Given the description of an element on the screen output the (x, y) to click on. 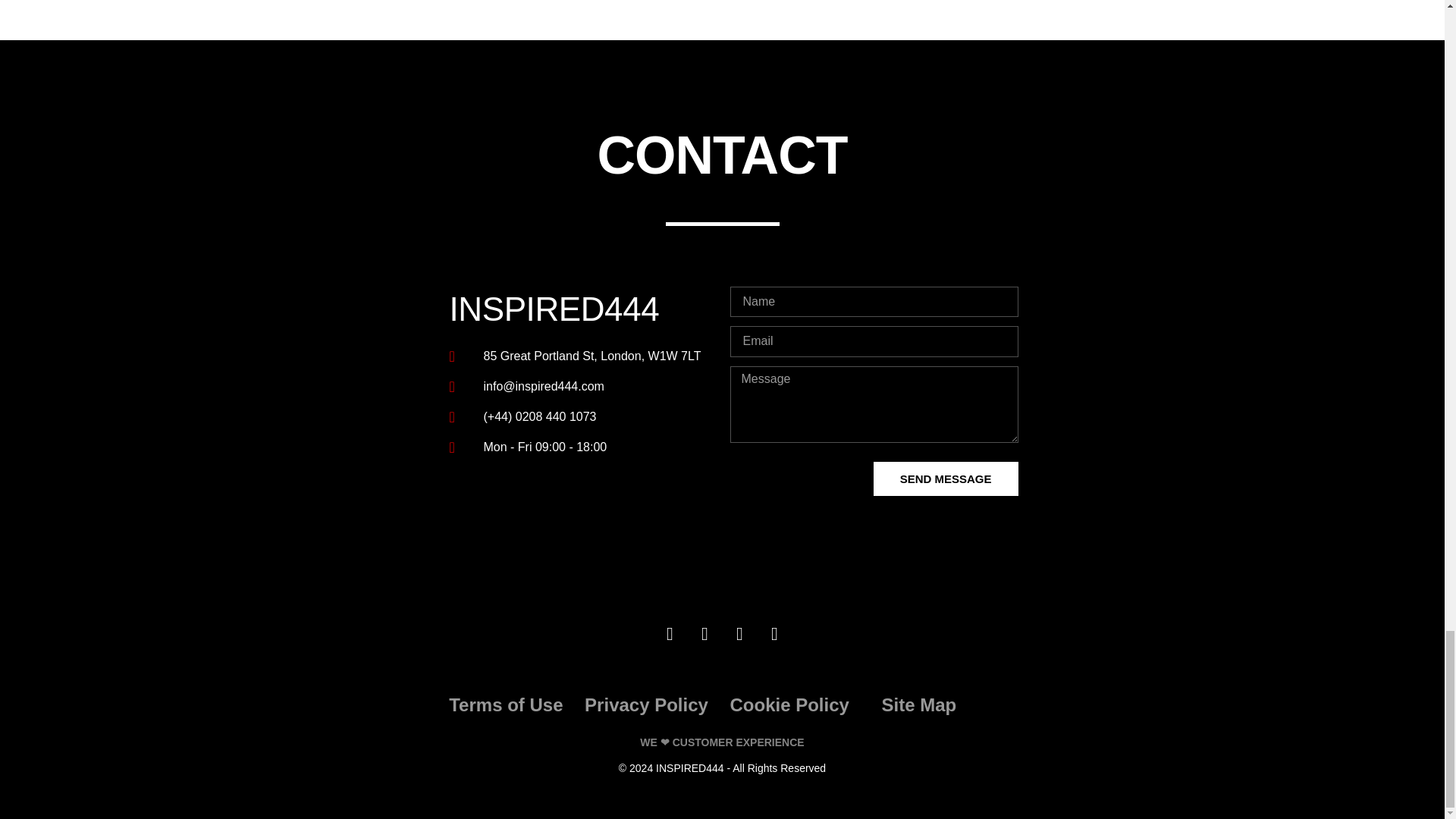
Cookie Policy (788, 704)
Privacy Policy (646, 704)
Terms of Use (505, 704)
SEND MESSAGE (945, 478)
Site Map (918, 704)
